Given the description of an element on the screen output the (x, y) to click on. 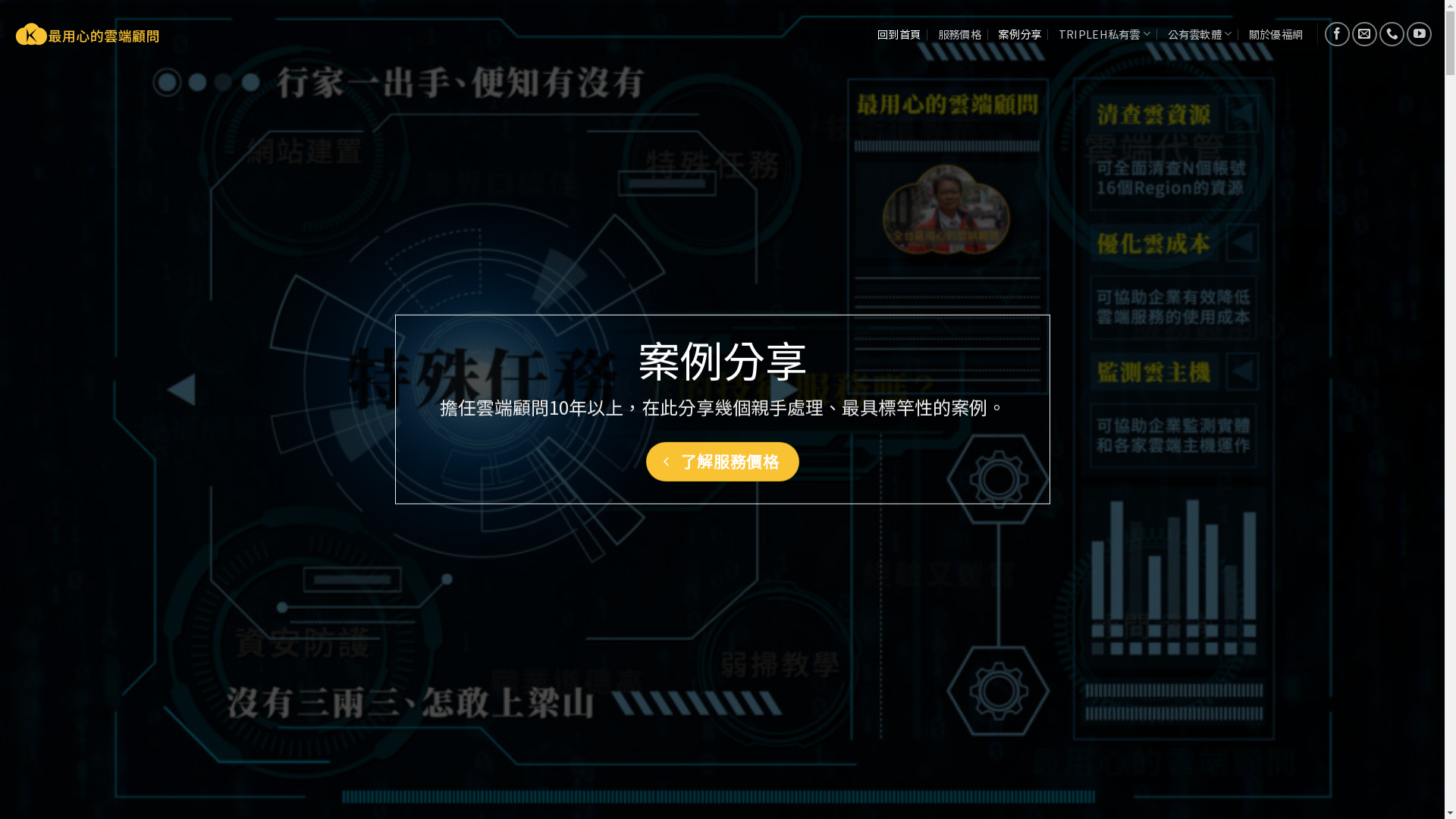
Follow on Facebook Element type: hover (1336, 34)
Call us Element type: hover (1391, 34)
Send us an email Element type: hover (1364, 34)
Follow on YouTube Element type: hover (1418, 34)
